Given the description of an element on the screen output the (x, y) to click on. 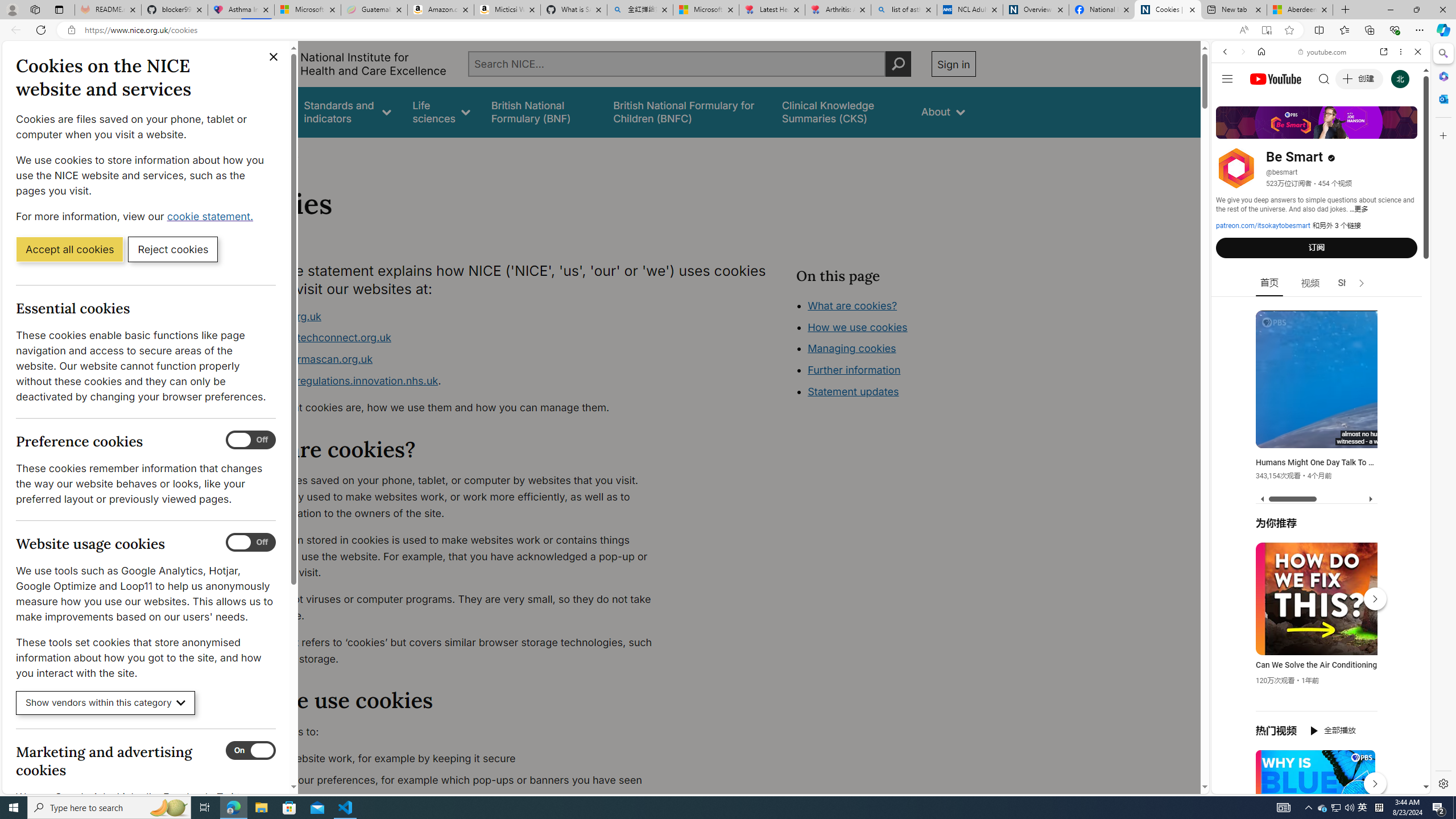
SEARCH TOOLS (1350, 130)
Managing cookies (852, 348)
Search Filter, Search Tools (1350, 129)
Class: in-page-nav__list (884, 349)
Preferences (1403, 129)
Life sciences (440, 111)
